Given the description of an element on the screen output the (x, y) to click on. 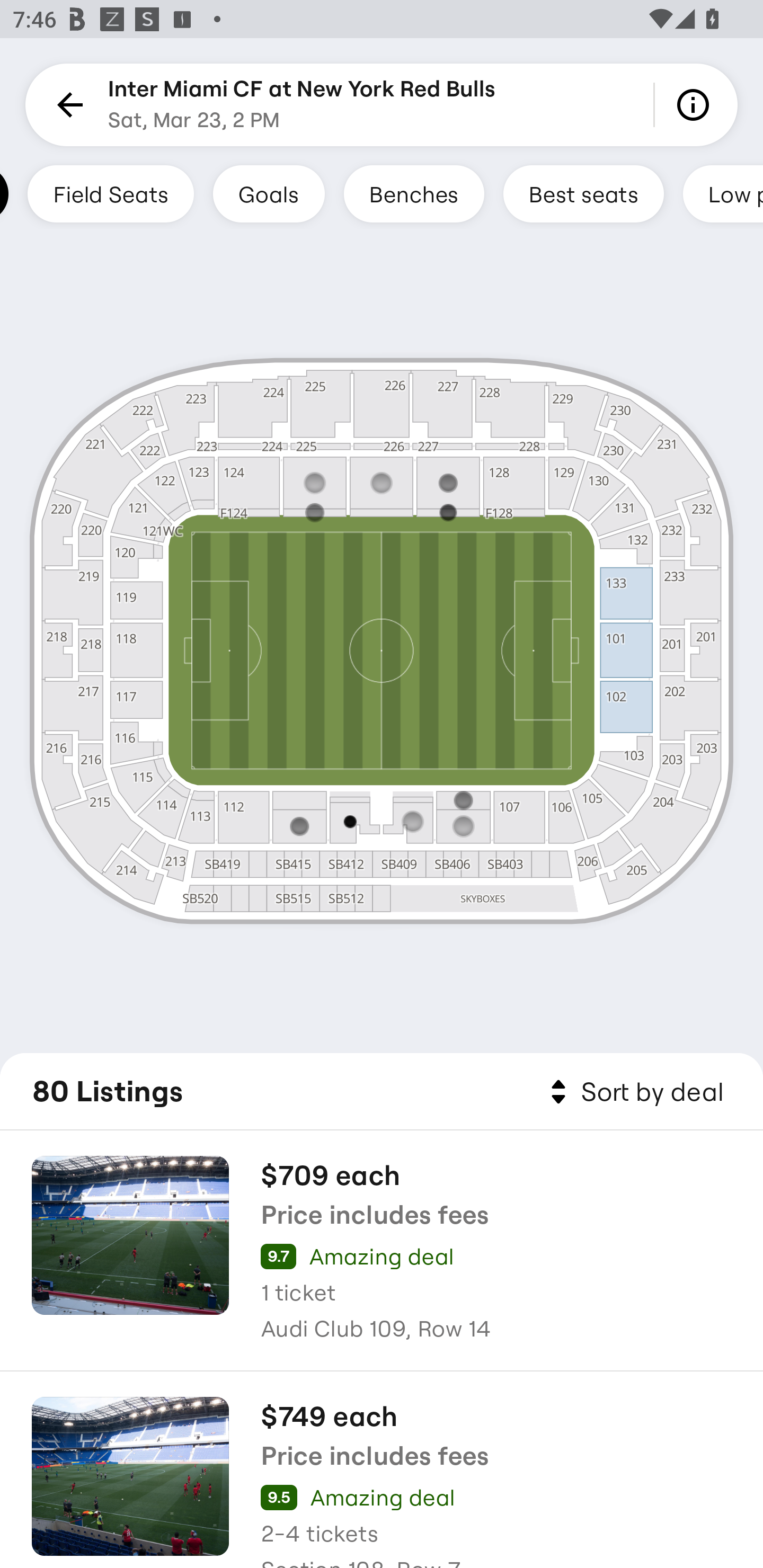
Back (66, 104)
Info (695, 104)
Field Seats (110, 193)
Goals (268, 193)
Benches (414, 193)
Best seats (583, 193)
Sort by deal (633, 1091)
